Given the description of an element on the screen output the (x, y) to click on. 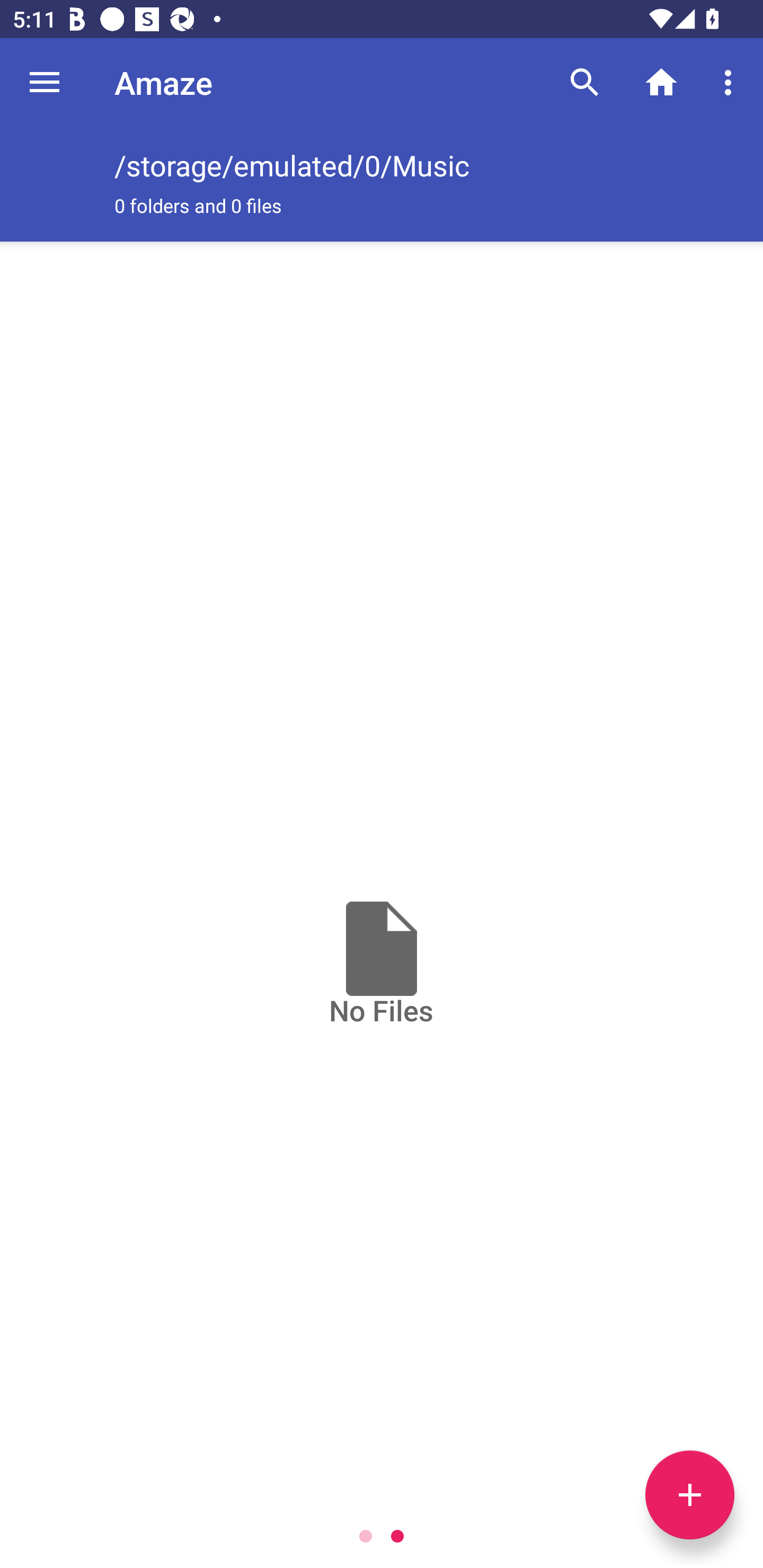
Navigate up (44, 82)
Search (585, 81)
Home (661, 81)
More options (731, 81)
